Given the description of an element on the screen output the (x, y) to click on. 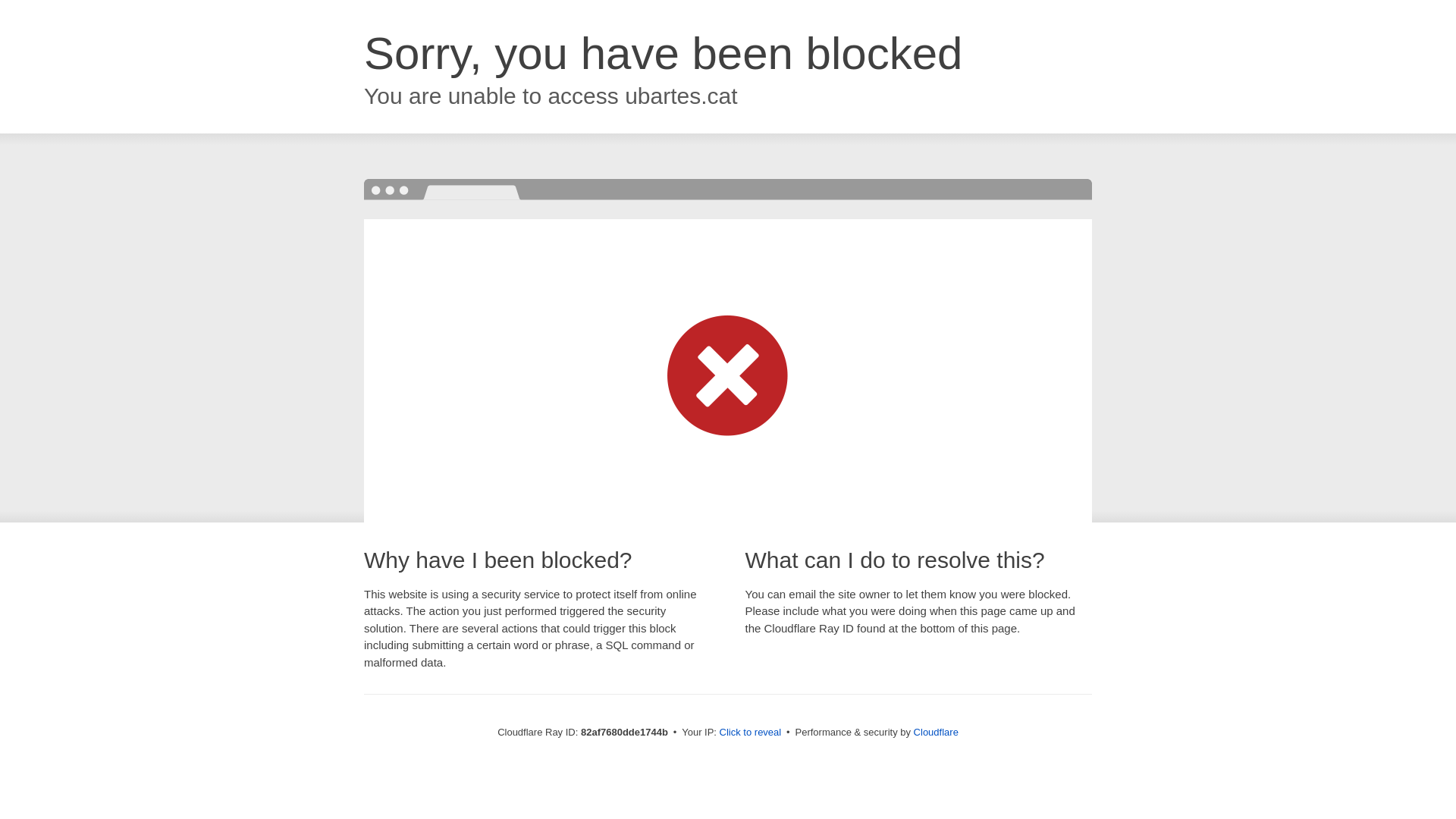
Cloudflare Element type: text (935, 731)
Click to reveal Element type: text (750, 732)
